Given the description of an element on the screen output the (x, y) to click on. 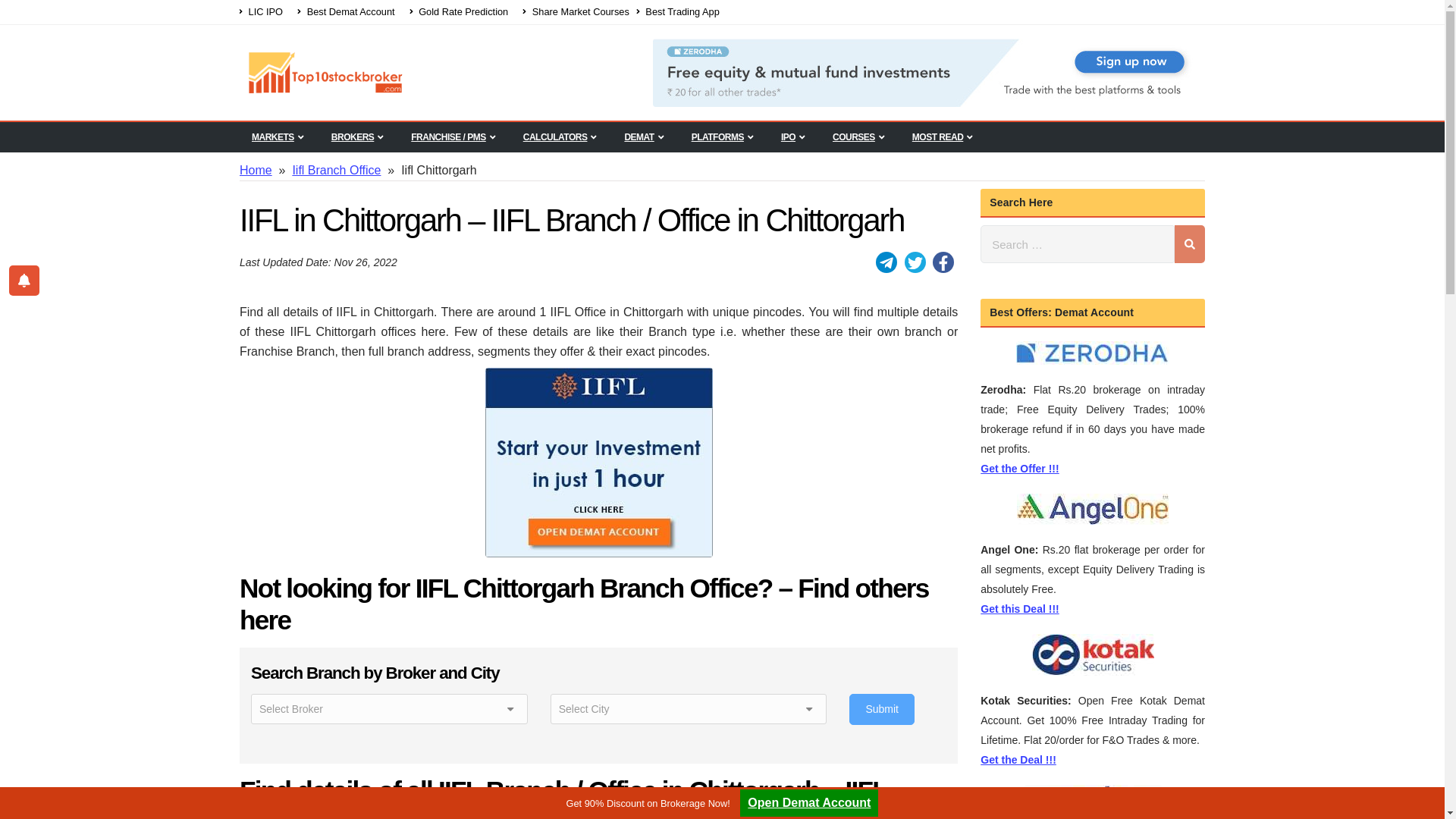
Telegram (886, 261)
Gold Rate Prediction (459, 13)
Gold Rate Prediction (459, 13)
Twitter (915, 261)
MARKETS (277, 136)
Share Market Courses (576, 13)
LIC IPO (264, 13)
Best Trading App (681, 13)
Best Demat Account (346, 13)
Share Market Courses (576, 13)
Facebook (943, 261)
Best Trading App (681, 13)
LIC IPO (264, 13)
Best Demat Account (346, 13)
BROKERS (357, 136)
